Given the description of an element on the screen output the (x, y) to click on. 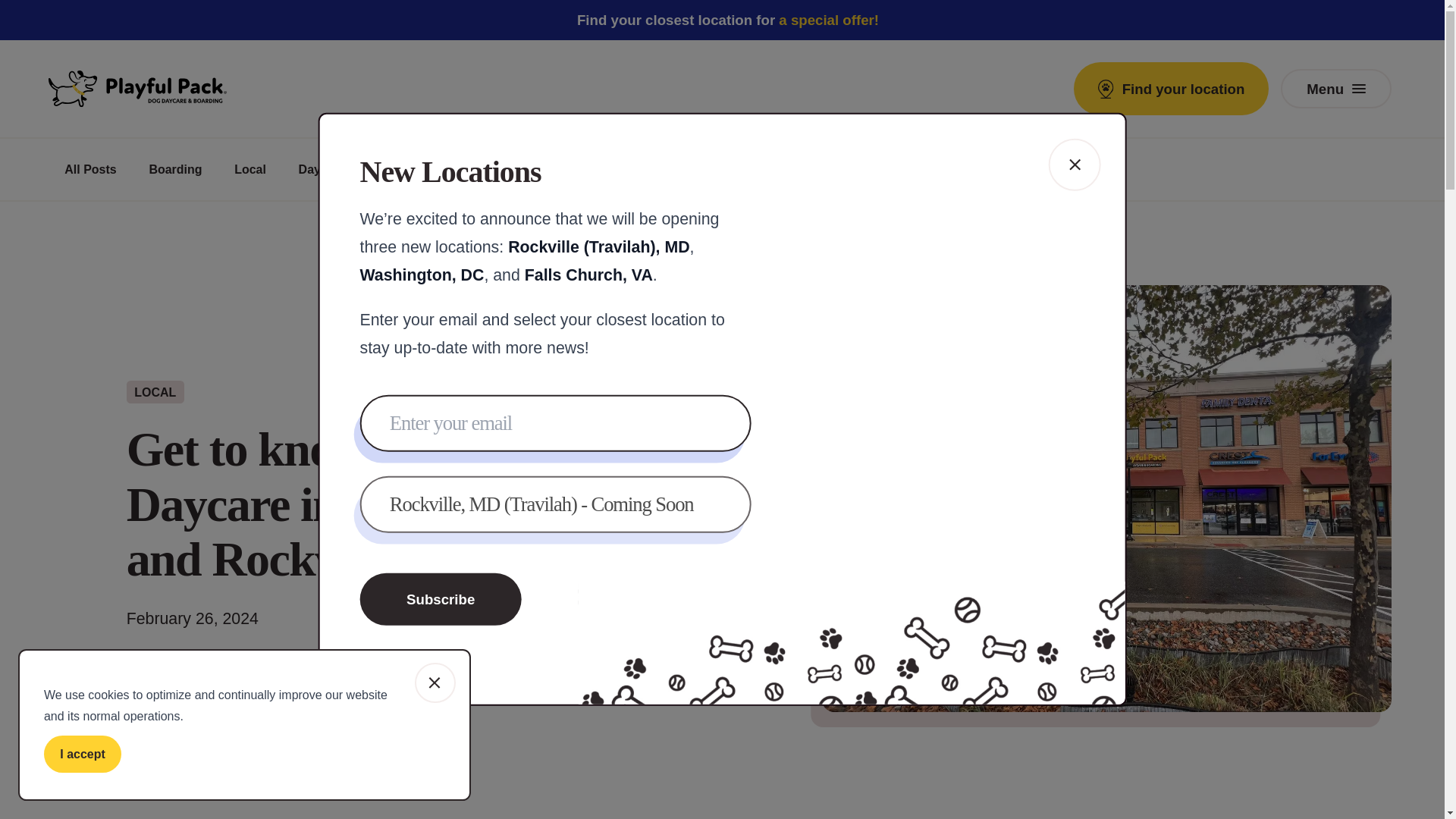
Boarding (175, 169)
Menu (1335, 88)
All Posts (90, 169)
General News (475, 169)
Find your location (1171, 88)
Tips (390, 169)
Daycare (321, 169)
LOCAL (155, 392)
Local (250, 169)
